Given the description of an element on the screen output the (x, y) to click on. 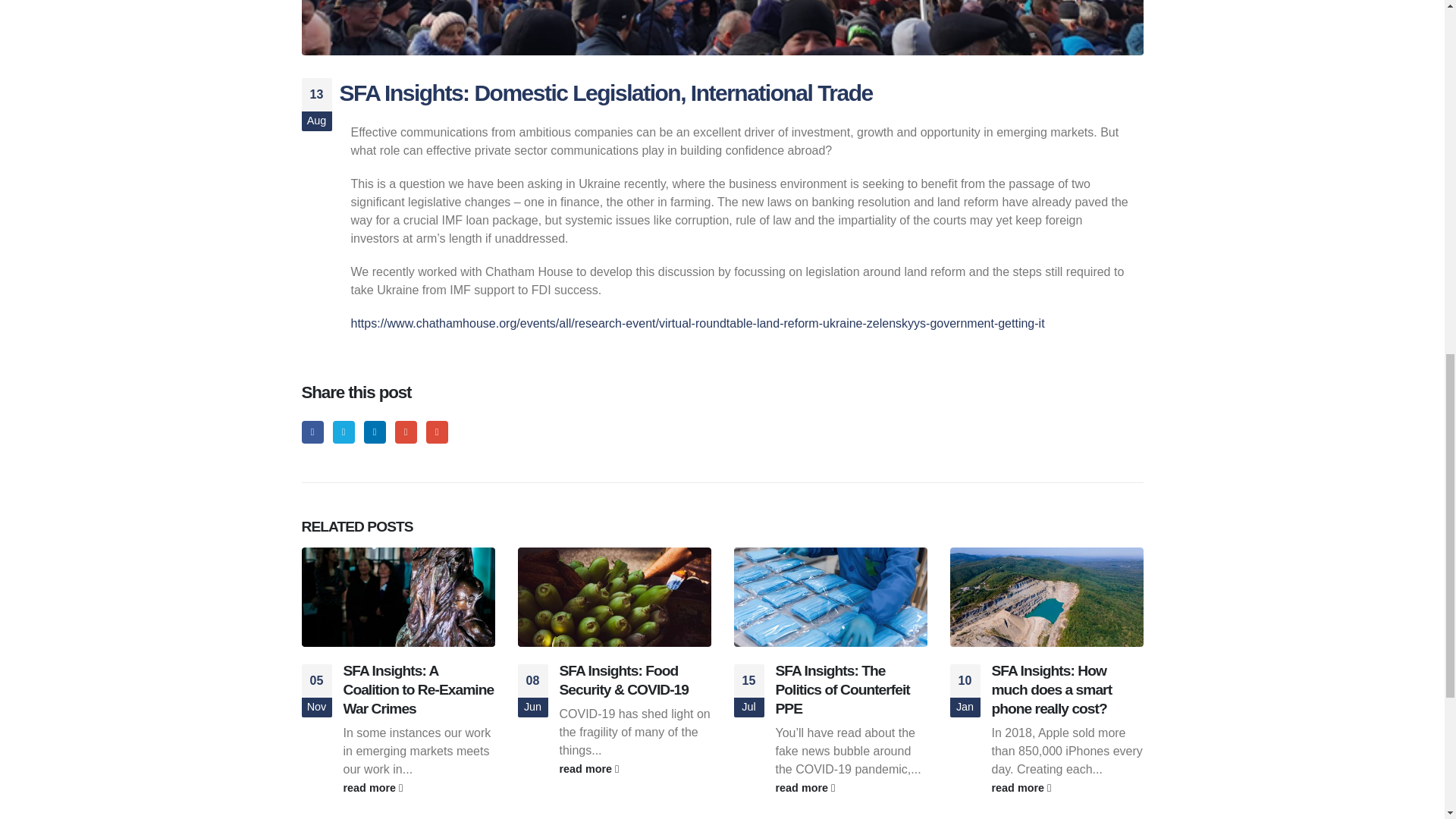
Facebook (312, 431)
Twitter (344, 431)
SFA Insights: The Politics of Counterfeit PPE (841, 689)
SFA Insights: How much does a smart phone really cost? (1051, 689)
Twitter (344, 431)
LinkedIn (374, 431)
LinkedIn (374, 431)
Email (437, 431)
read more (1066, 787)
read more (850, 787)
